Given the description of an element on the screen output the (x, y) to click on. 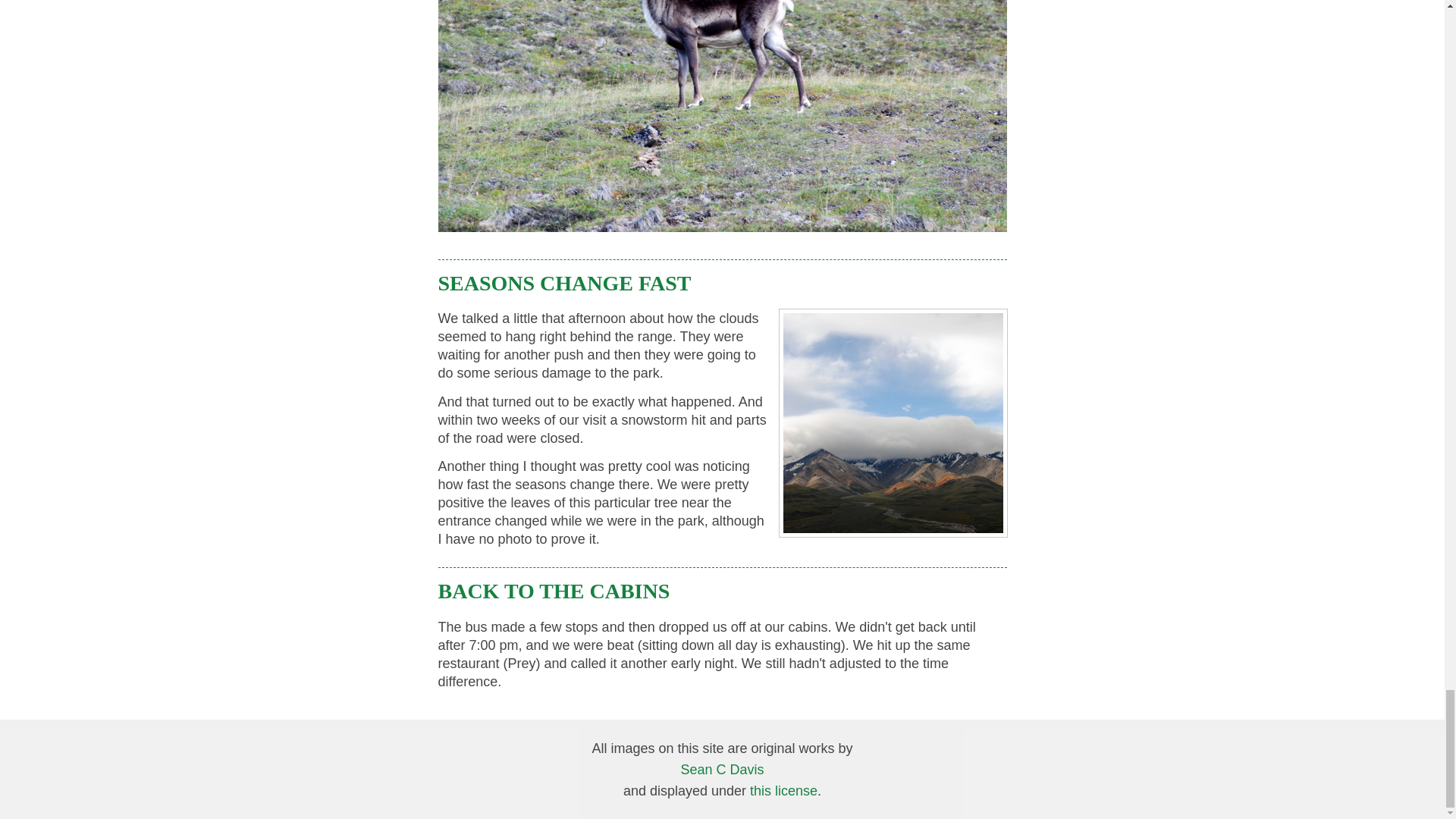
Sean C Davis (720, 768)
this license (782, 789)
